Given the description of an element on the screen output the (x, y) to click on. 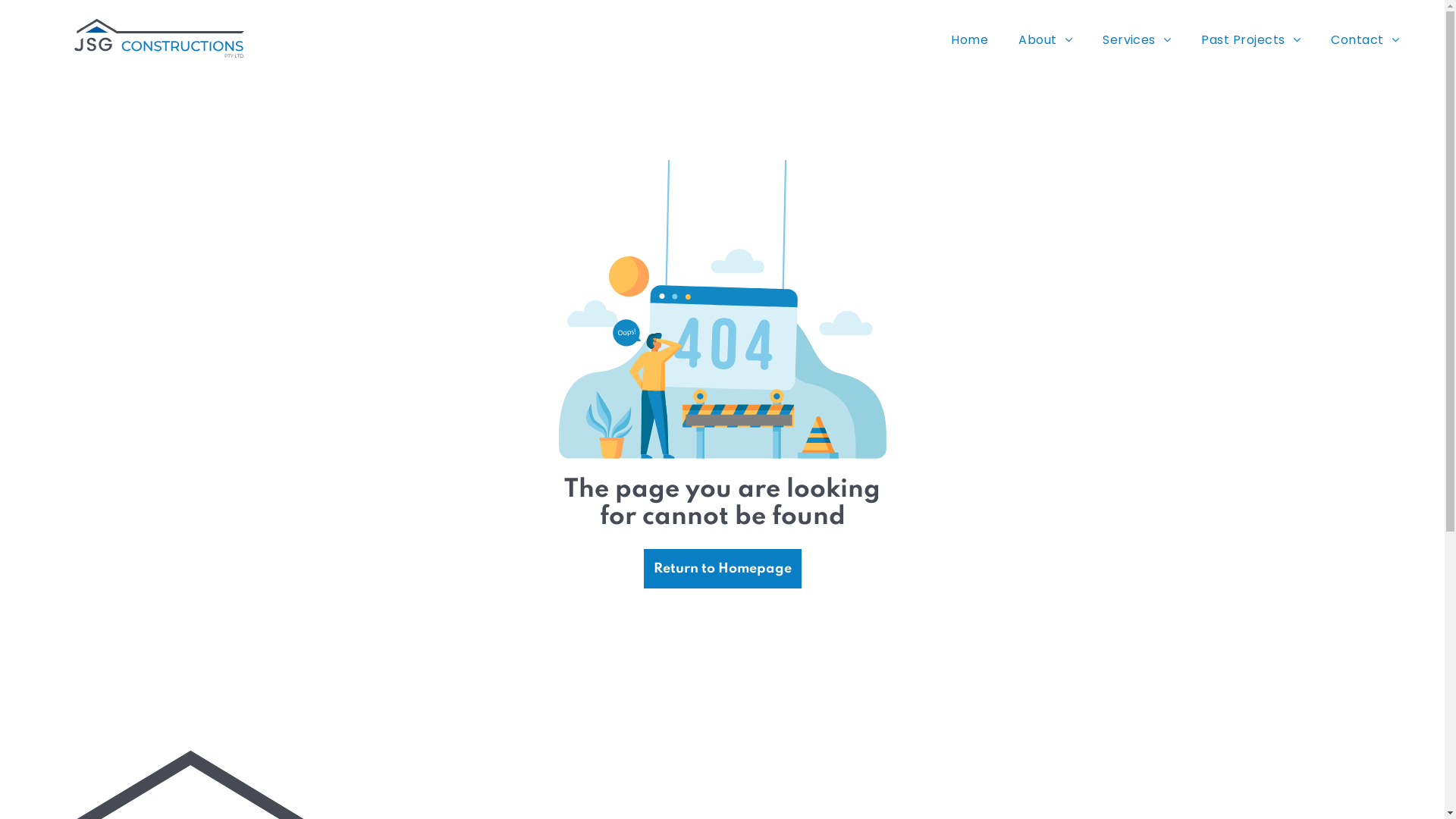
Past Projects Element type: text (1250, 39)
Services Element type: text (1136, 39)
Contact Element type: text (1364, 39)
Home Element type: text (969, 39)
About Element type: text (1045, 39)
Return to Homepage Element type: text (721, 568)
